Given the description of an element on the screen output the (x, y) to click on. 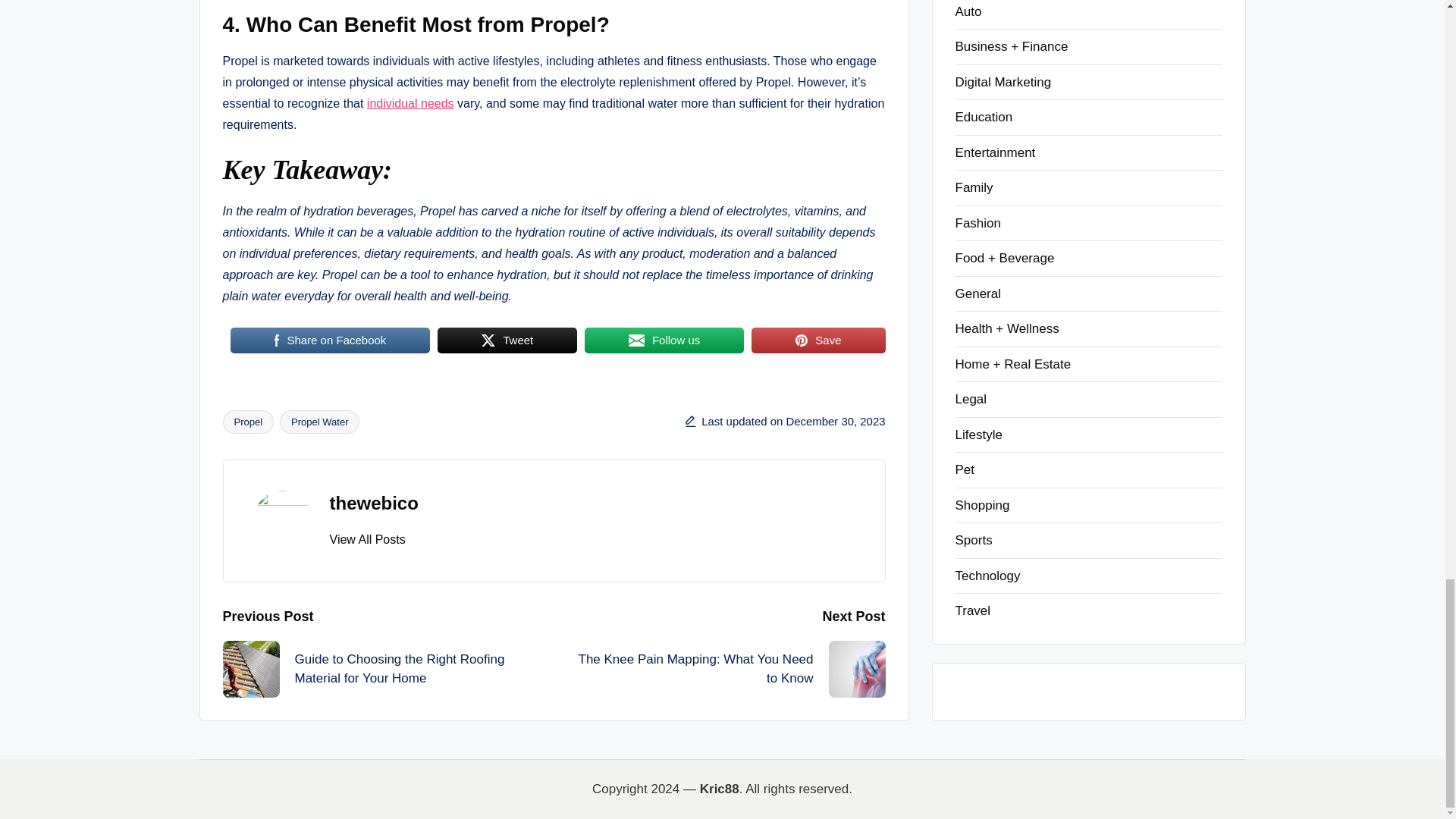
Kric88 (856, 668)
Kric88 (250, 668)
Kric88 (636, 340)
Kric88 (801, 340)
Kric88 (488, 340)
